Given the description of an element on the screen output the (x, y) to click on. 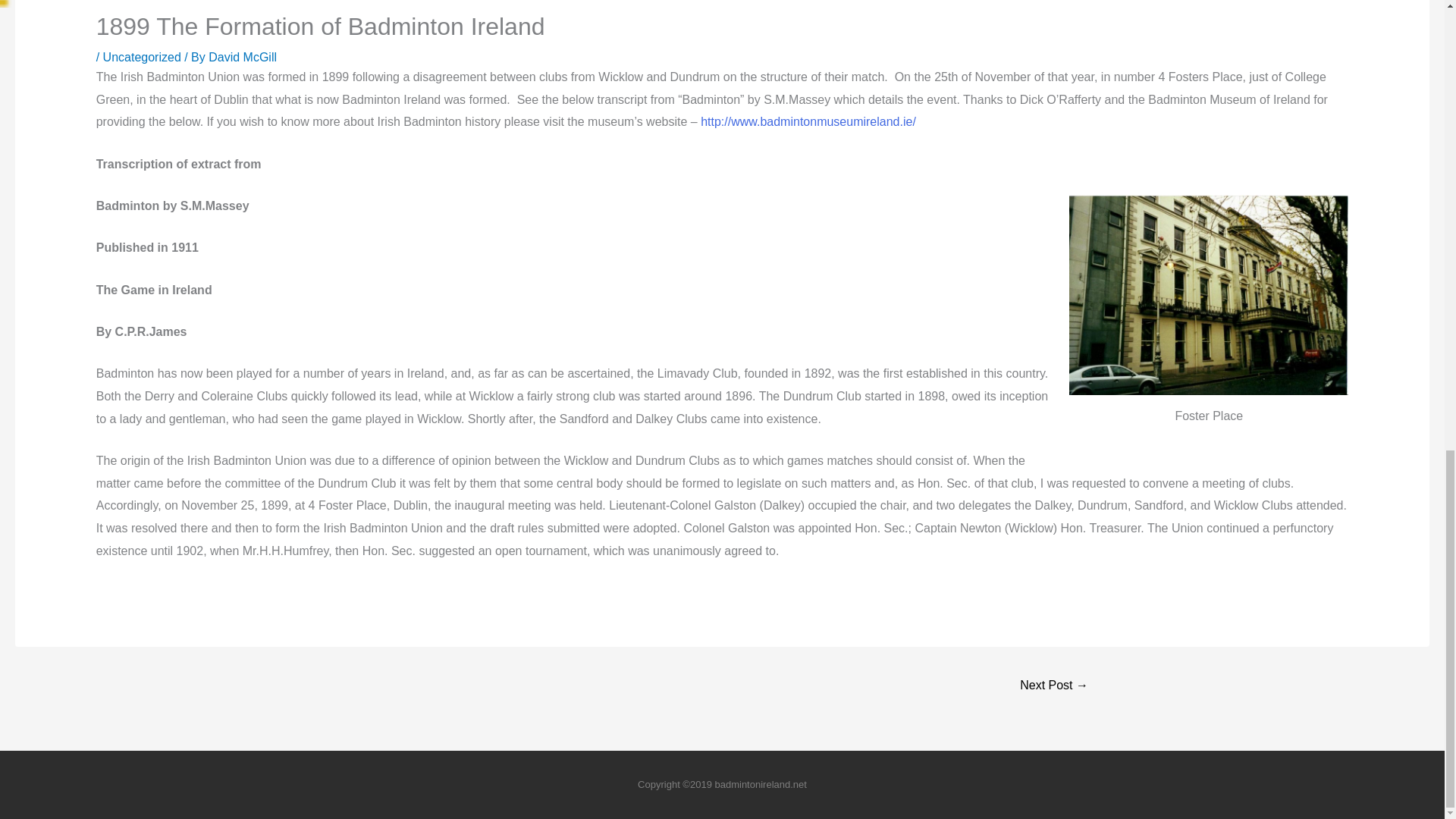
Badminton Ireland Launch SMASH Cancer Campaign (1053, 686)
Uncategorized (141, 56)
View all posts by David McGill (242, 56)
David McGill (242, 56)
